Given the description of an element on the screen output the (x, y) to click on. 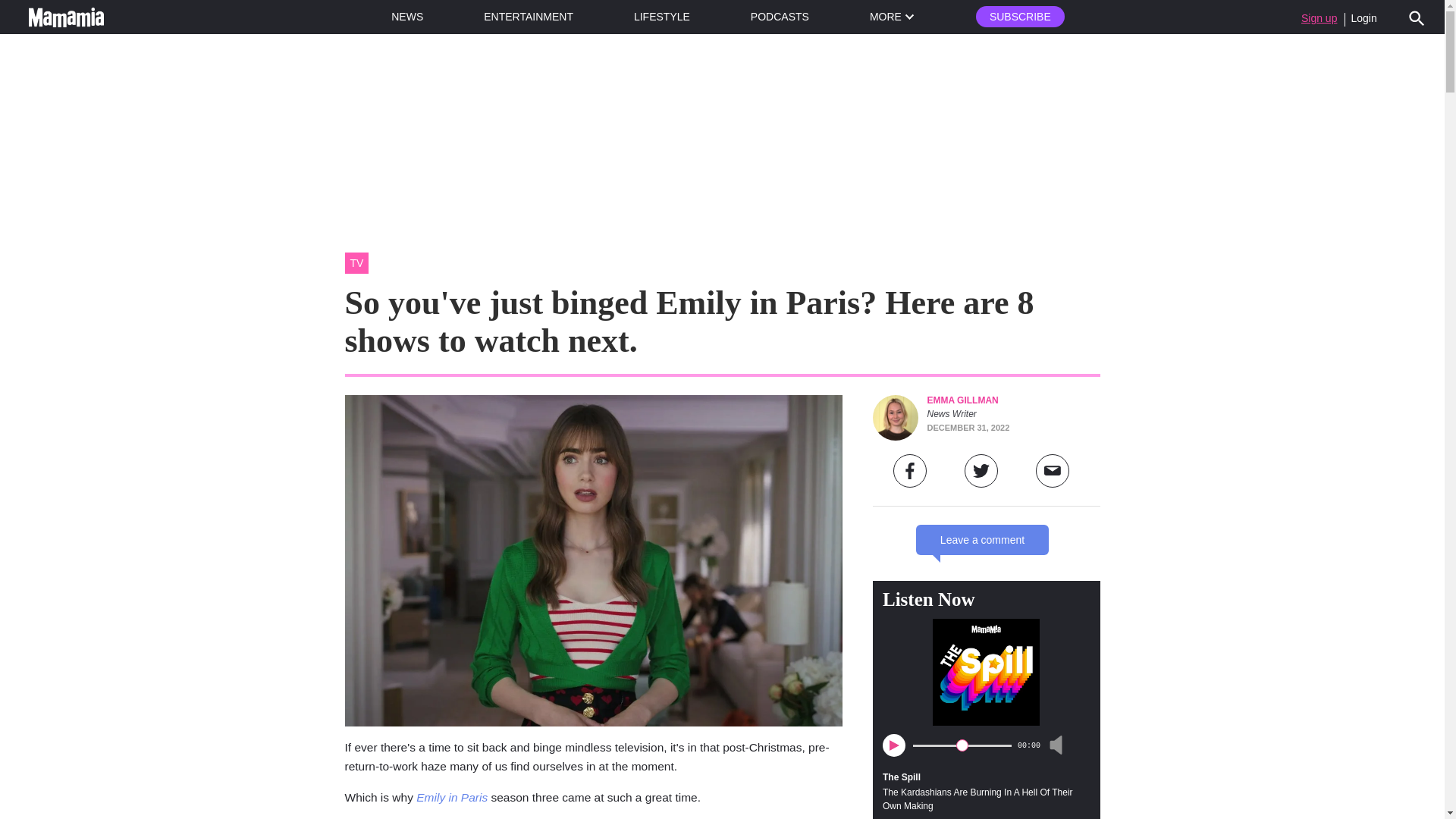
MORE (892, 17)
ENTERTAINMENT (528, 16)
591 (961, 745)
Search (1416, 17)
PODCASTS (780, 16)
LIFESTYLE (661, 16)
NEWS (407, 16)
